Given the description of an element on the screen output the (x, y) to click on. 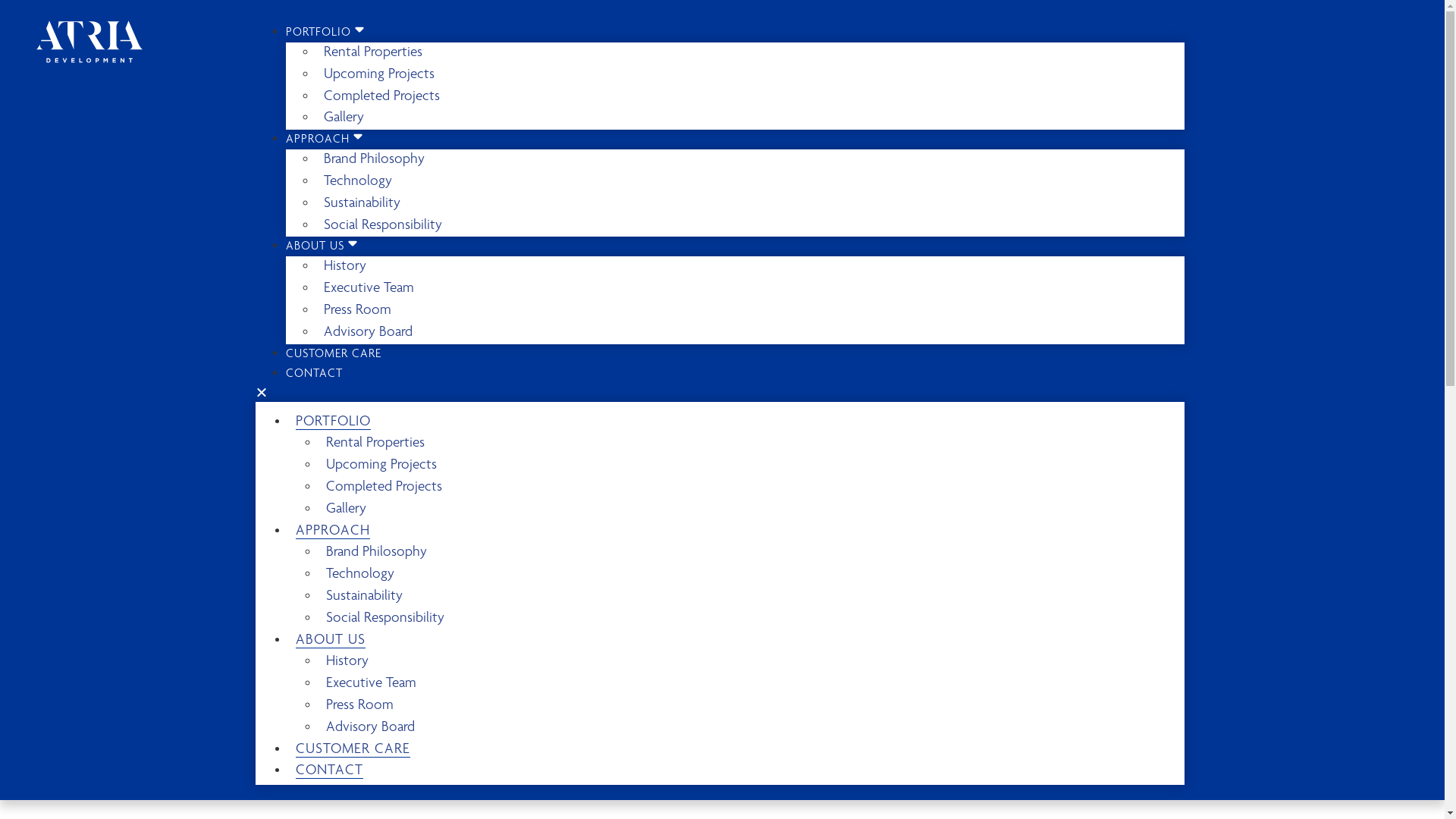
Brand Philosophy Element type: text (376, 552)
Gallery Element type: text (345, 509)
Rental Properties Element type: text (375, 443)
Upcoming Projects Element type: text (381, 465)
CUSTOMER CARE Element type: text (352, 749)
Technology Element type: text (359, 574)
Social Responsibility Element type: text (382, 225)
Sustainability Element type: text (364, 596)
Advisory Board Element type: text (368, 332)
Executive Team Element type: text (368, 288)
Gallery Element type: text (343, 117)
Upcoming Projects Element type: text (379, 74)
History Element type: text (347, 661)
APPROACH Element type: text (340, 531)
Brand Philosophy Element type: text (374, 159)
ABOUT US Element type: text (322, 247)
Sustainability Element type: text (361, 203)
History Element type: text (344, 266)
Executive Team Element type: text (370, 683)
CONTACT Element type: text (313, 374)
Technology Element type: text (357, 181)
Completed Projects Element type: text (383, 487)
CONTACT Element type: text (329, 770)
APPROACH Element type: text (324, 140)
PORTFOLIO Element type: text (340, 421)
Press Room Element type: text (357, 310)
CUSTOMER CARE Element type: text (333, 354)
Social Responsibility Element type: text (384, 618)
ABOUT US Element type: text (338, 640)
PORTFOLIO Element type: text (325, 33)
Rental Properties Element type: text (372, 52)
Advisory Board Element type: text (370, 727)
Completed Projects Element type: text (381, 96)
Press Room Element type: text (359, 705)
